Given the description of an element on the screen output the (x, y) to click on. 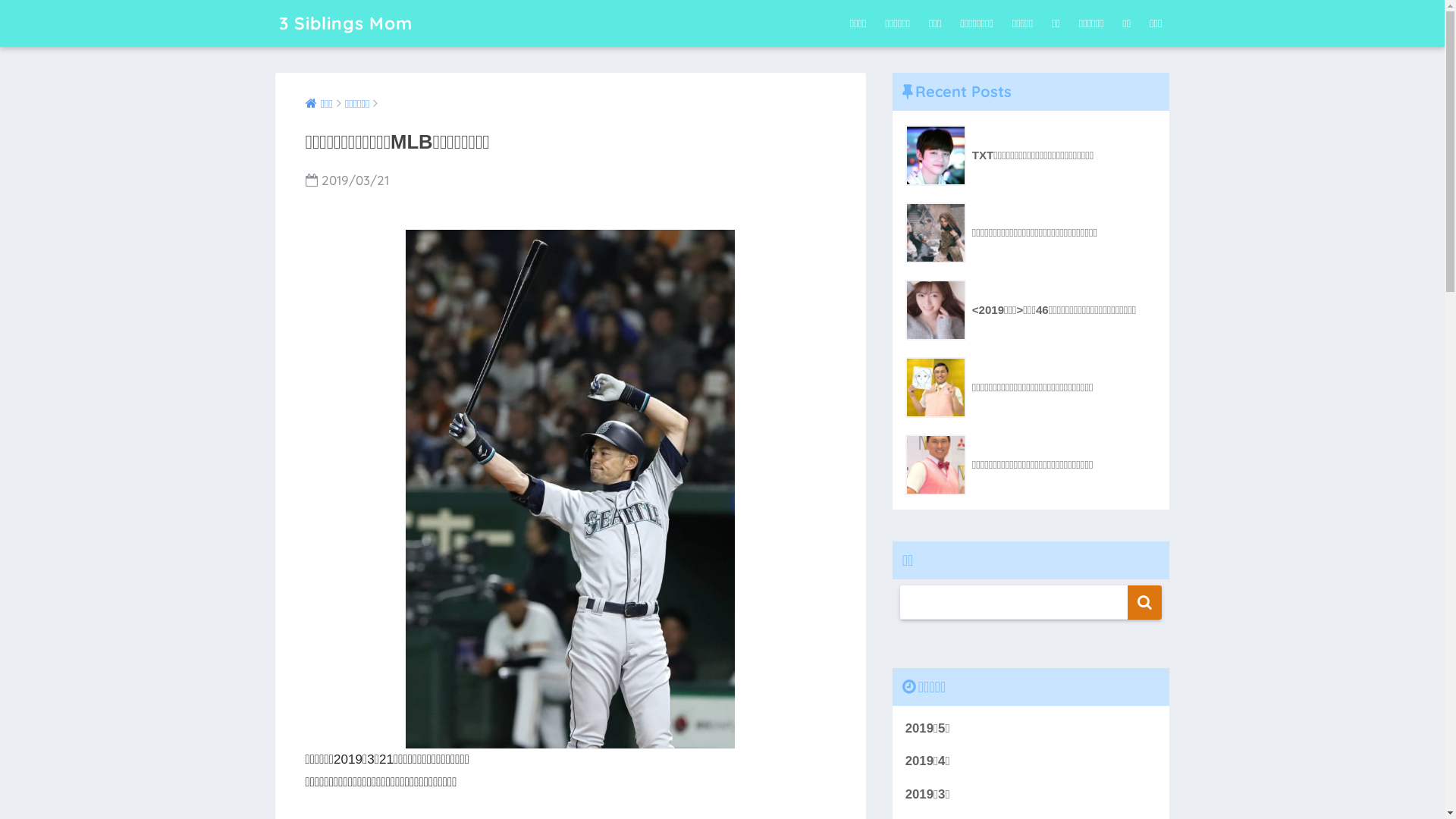
3 Siblings Mom Element type: text (345, 23)
